Given the description of an element on the screen output the (x, y) to click on. 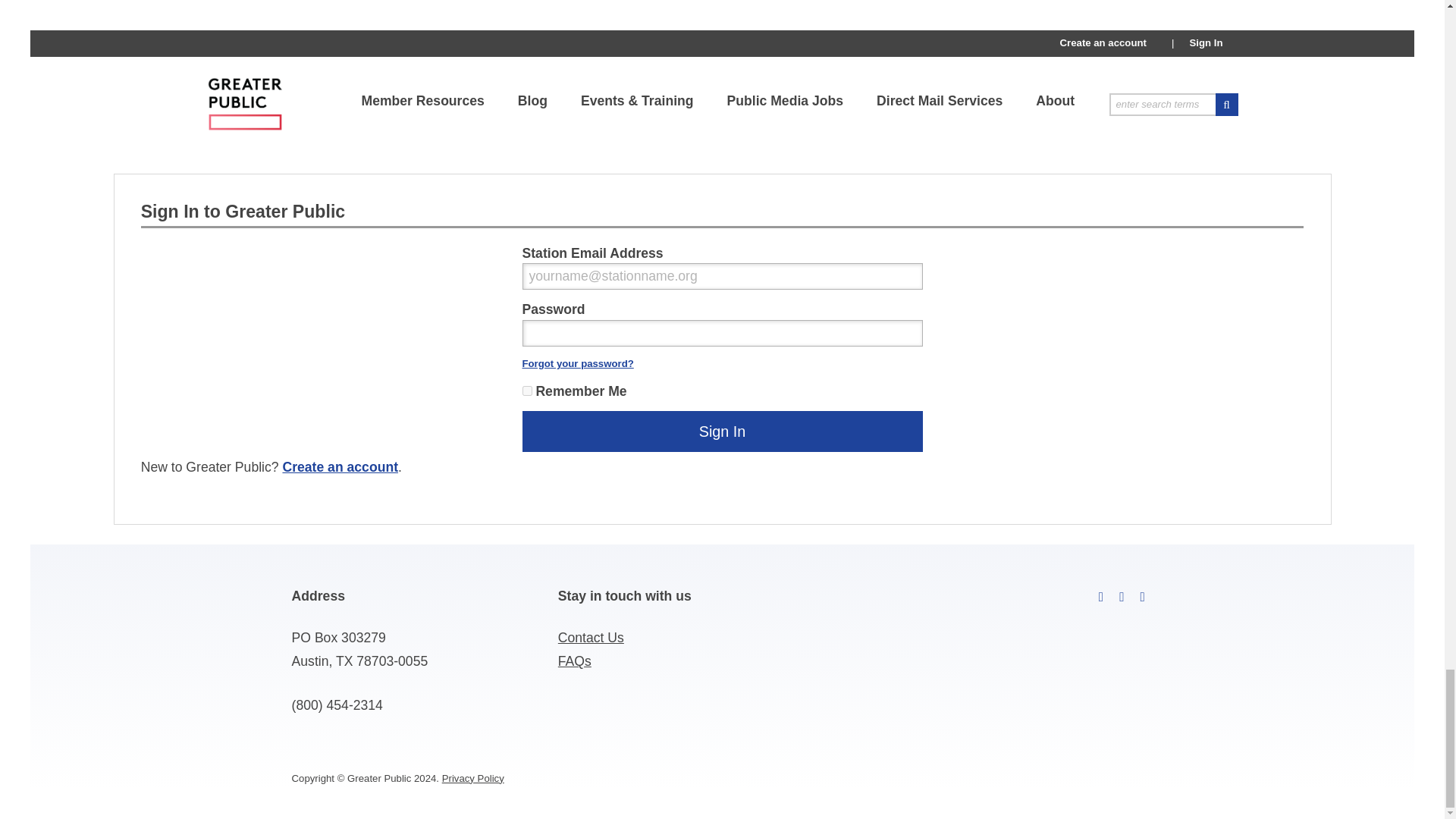
Sign In (721, 431)
forever (526, 390)
